Given the description of an element on the screen output the (x, y) to click on. 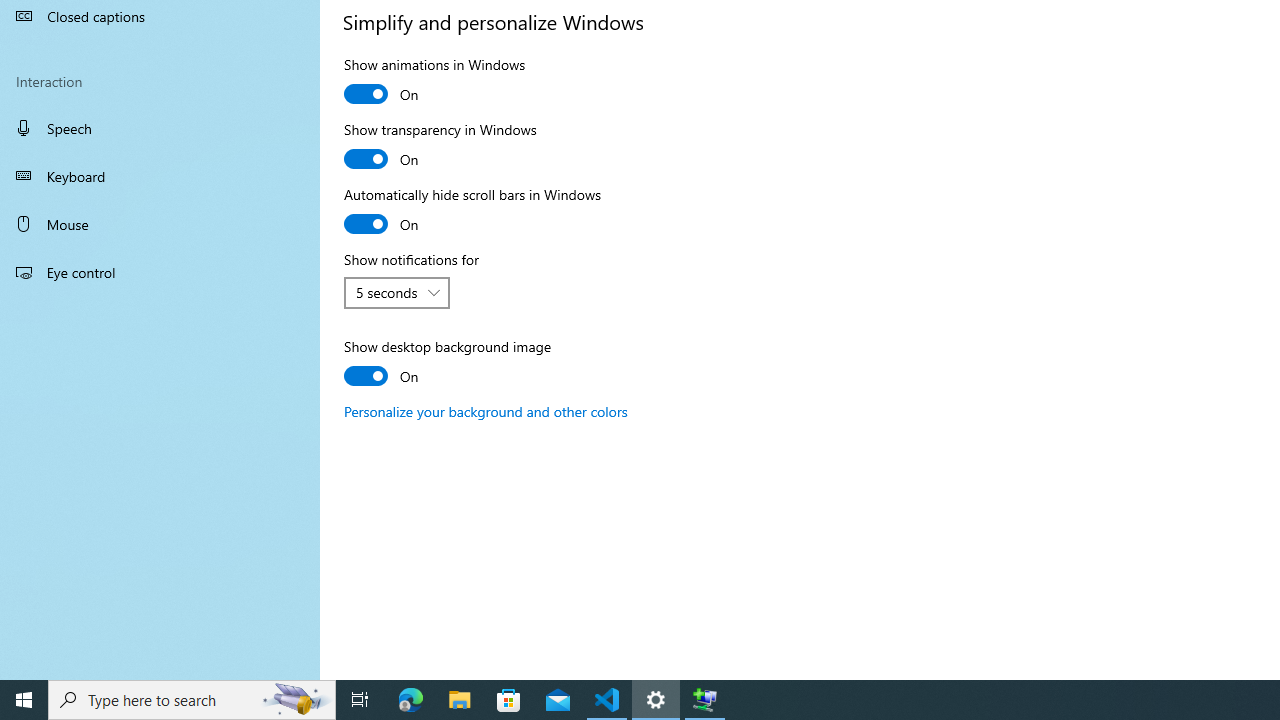
Show notifications for (397, 292)
Show transparency in Windows (440, 147)
Eye control (160, 271)
Show desktop background image (447, 363)
Speech (160, 127)
Extensible Wizards Host Process - 1 running window (704, 699)
Personalize your background and other colors (486, 411)
5 seconds (386, 291)
